Given the description of an element on the screen output the (x, y) to click on. 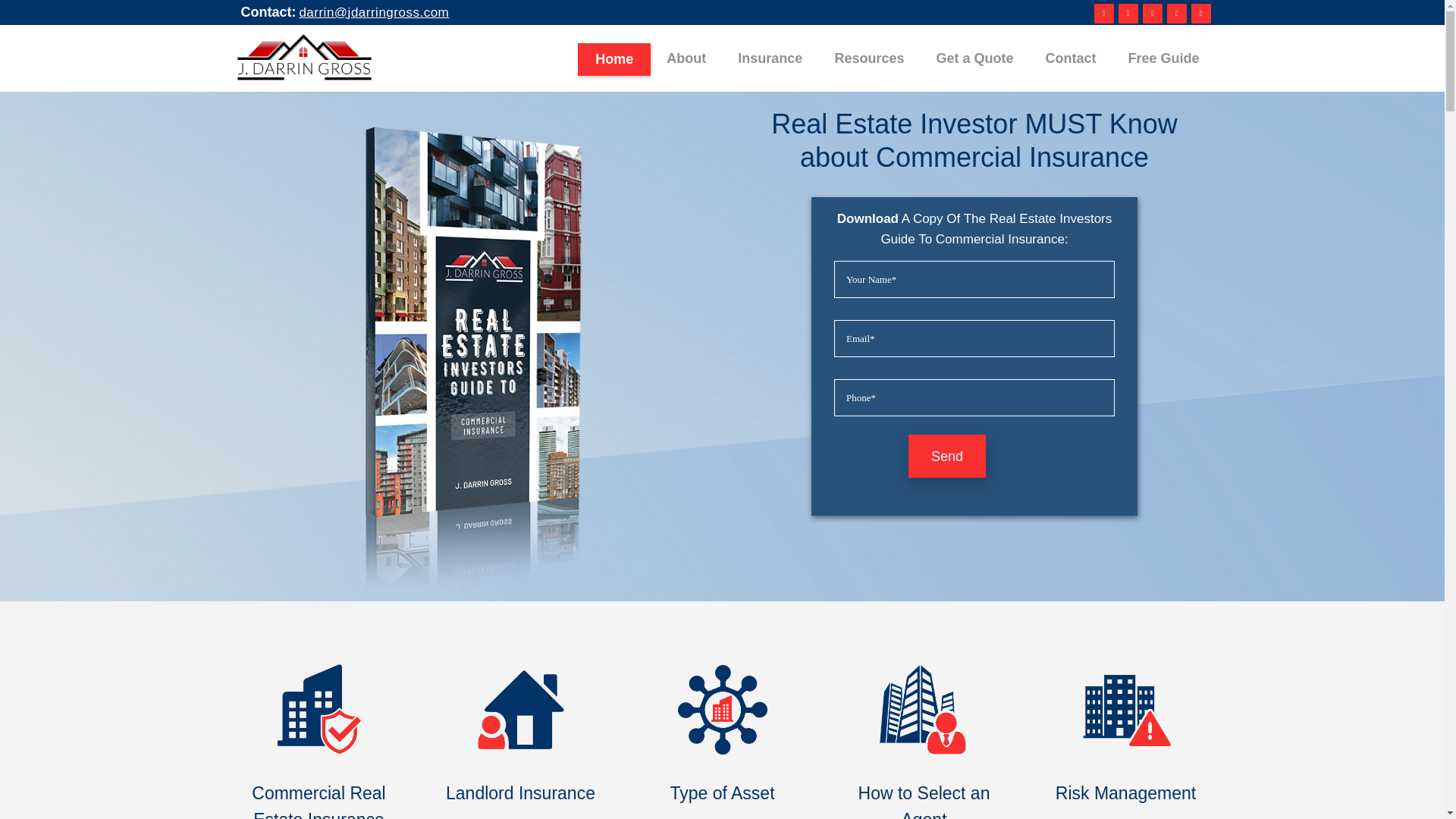
About (686, 58)
Contact (1070, 58)
Send (946, 455)
Get a Quote (974, 58)
Resources (869, 58)
Home (614, 58)
Insurance (770, 58)
Free Guide (1163, 58)
